Given the description of an element on the screen output the (x, y) to click on. 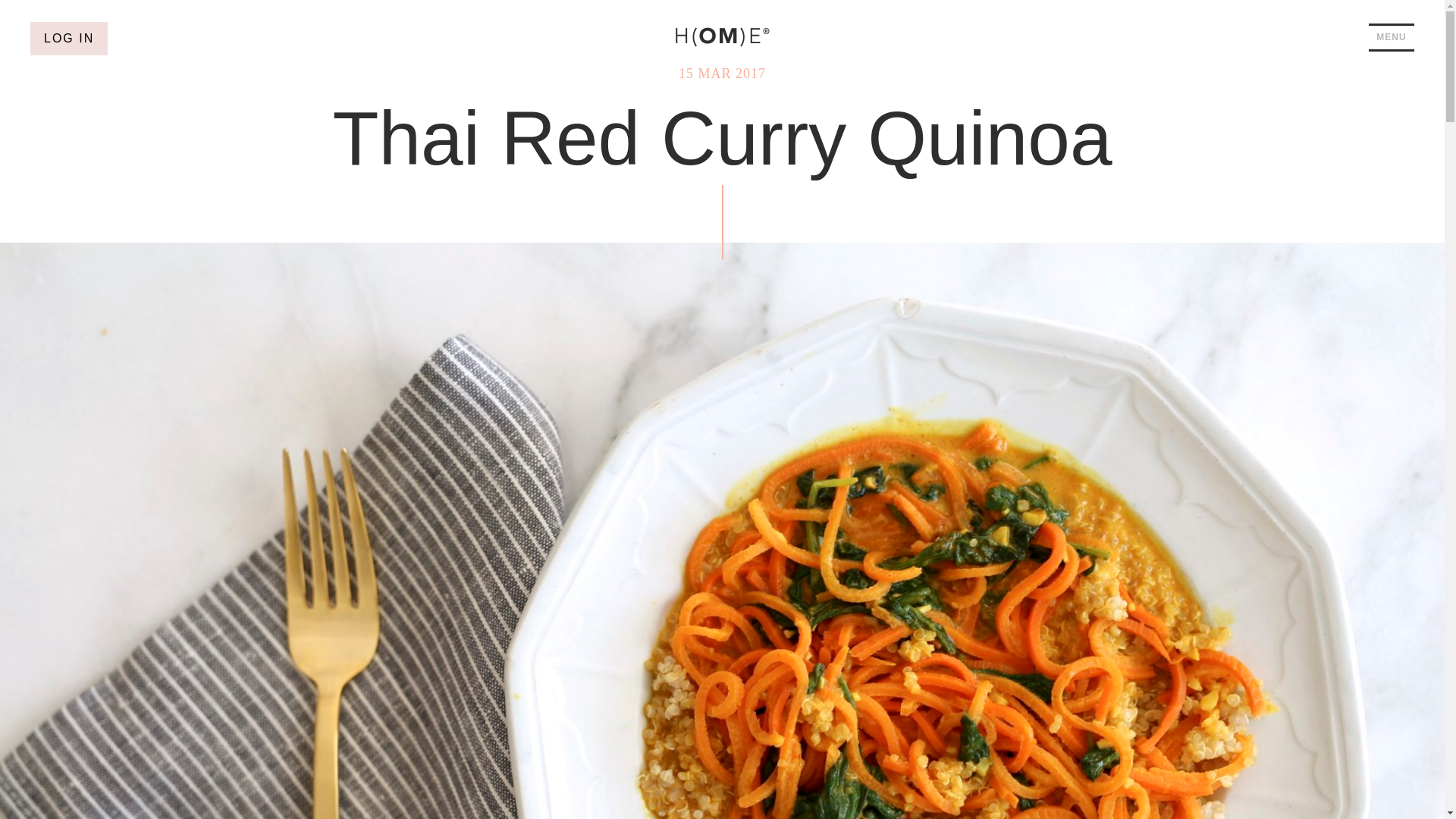
LOG IN (68, 38)
Search (22, 22)
MENU (1390, 38)
